Given the description of an element on the screen output the (x, y) to click on. 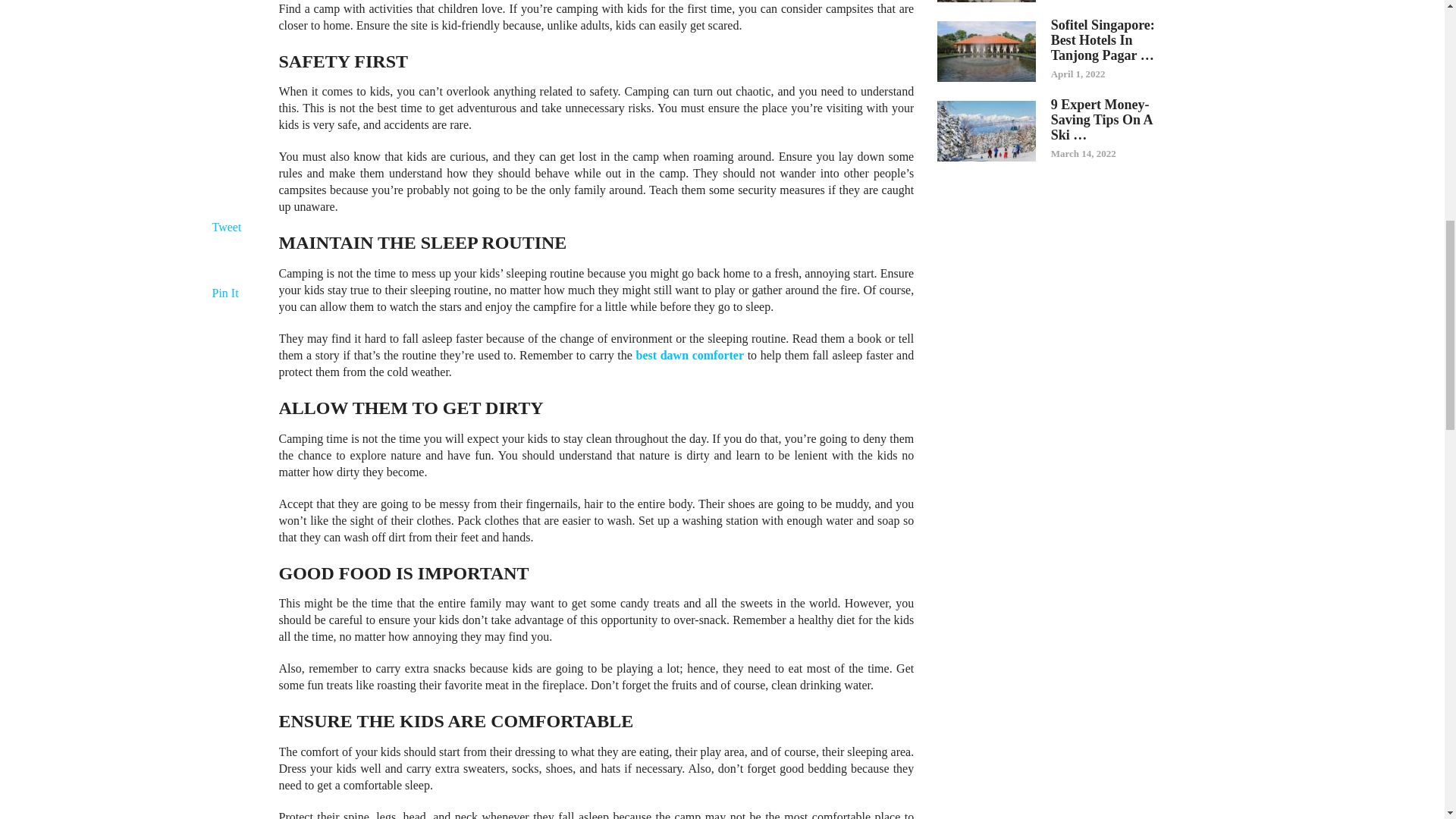
best dawn comforter (690, 354)
